Given the description of an element on the screen output the (x, y) to click on. 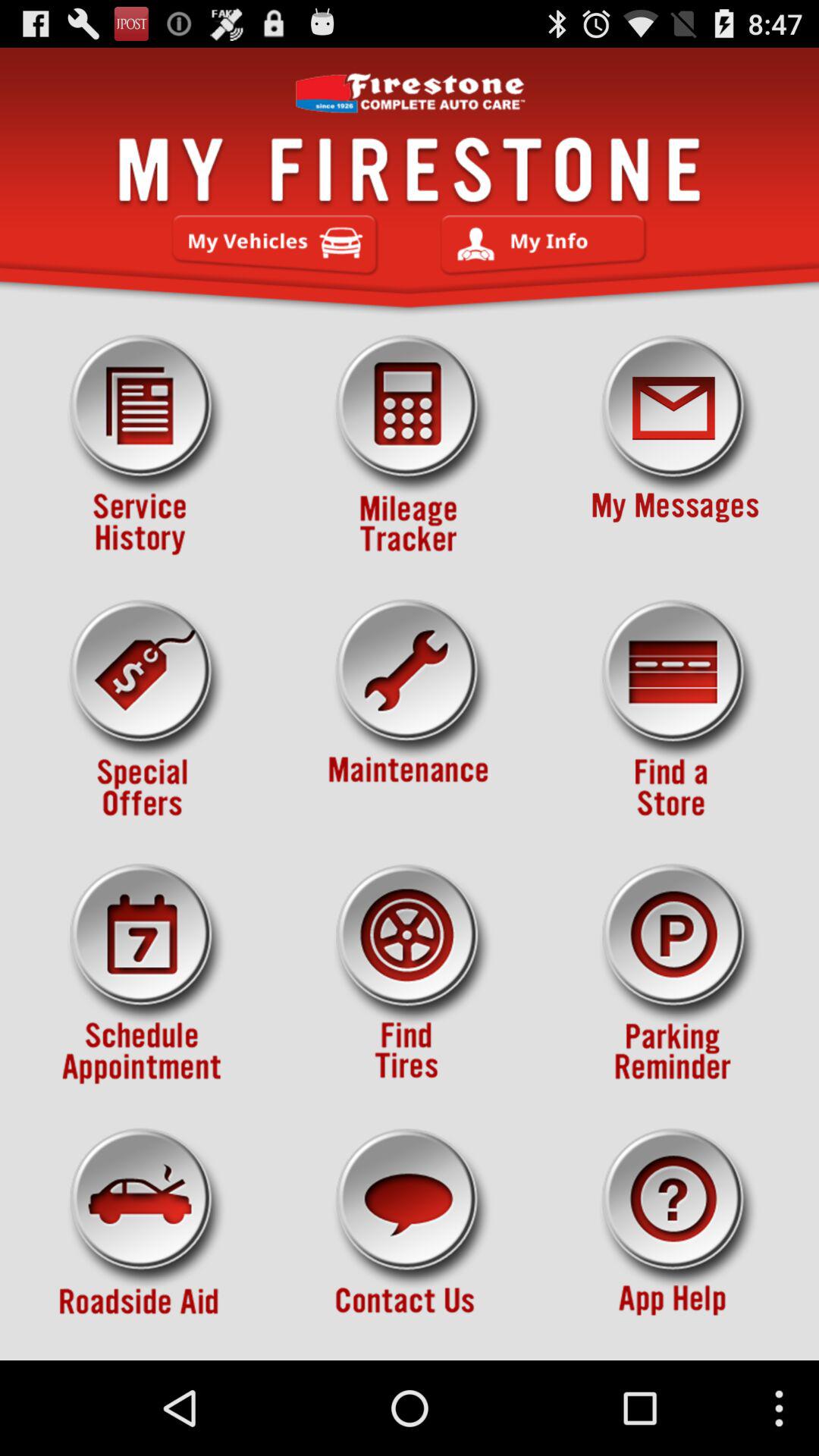
open my vehicles page (275, 245)
